Given the description of an element on the screen output the (x, y) to click on. 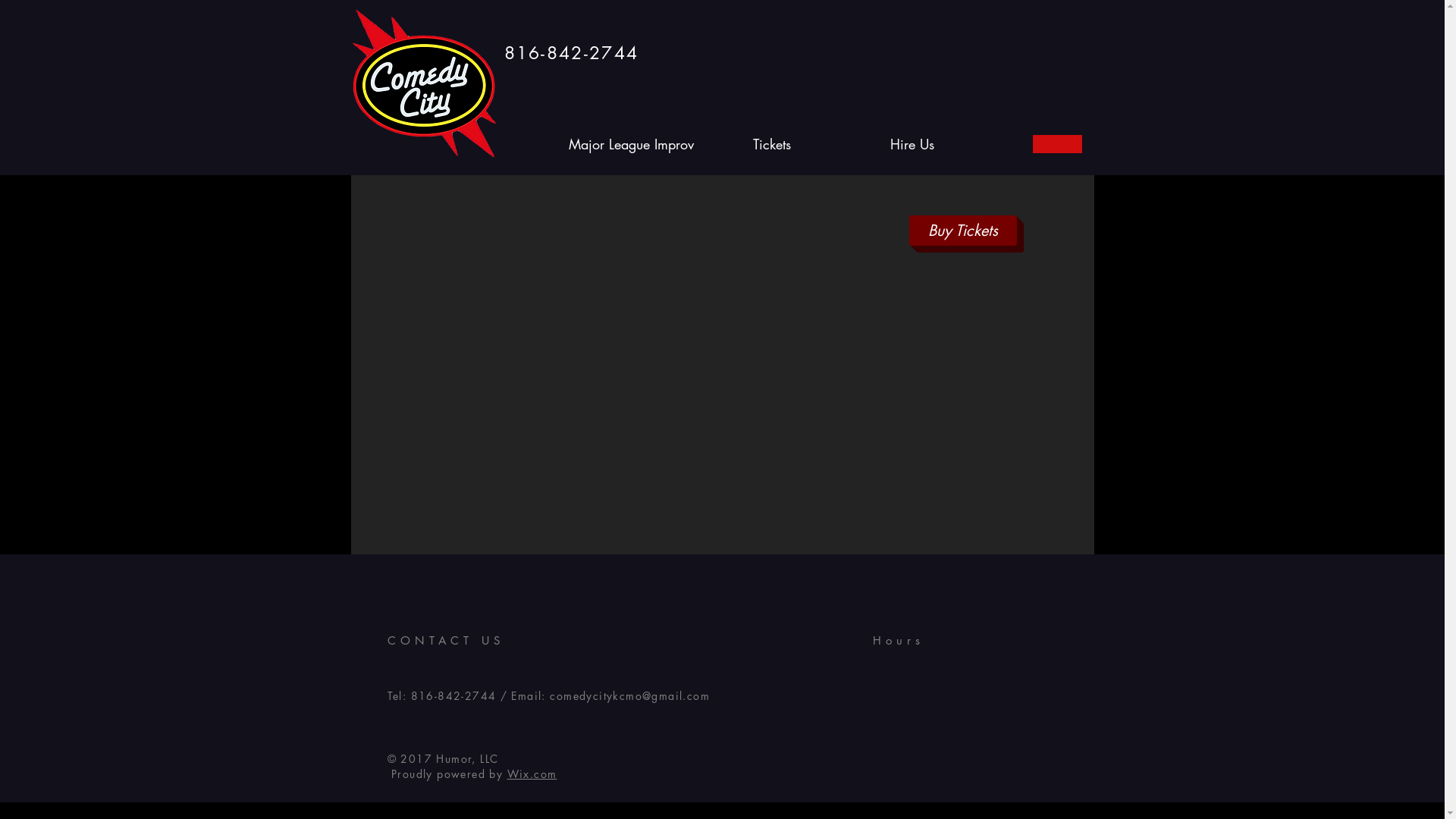
Wix.com Element type: text (531, 773)
Buy Tickets Element type: text (962, 230)
Hire Us Element type: text (911, 143)
comedycitykcmo@gmail.com Element type: text (629, 695)
Major League Improv Element type: text (631, 143)
Tickets Element type: text (771, 143)
